Given the description of an element on the screen output the (x, y) to click on. 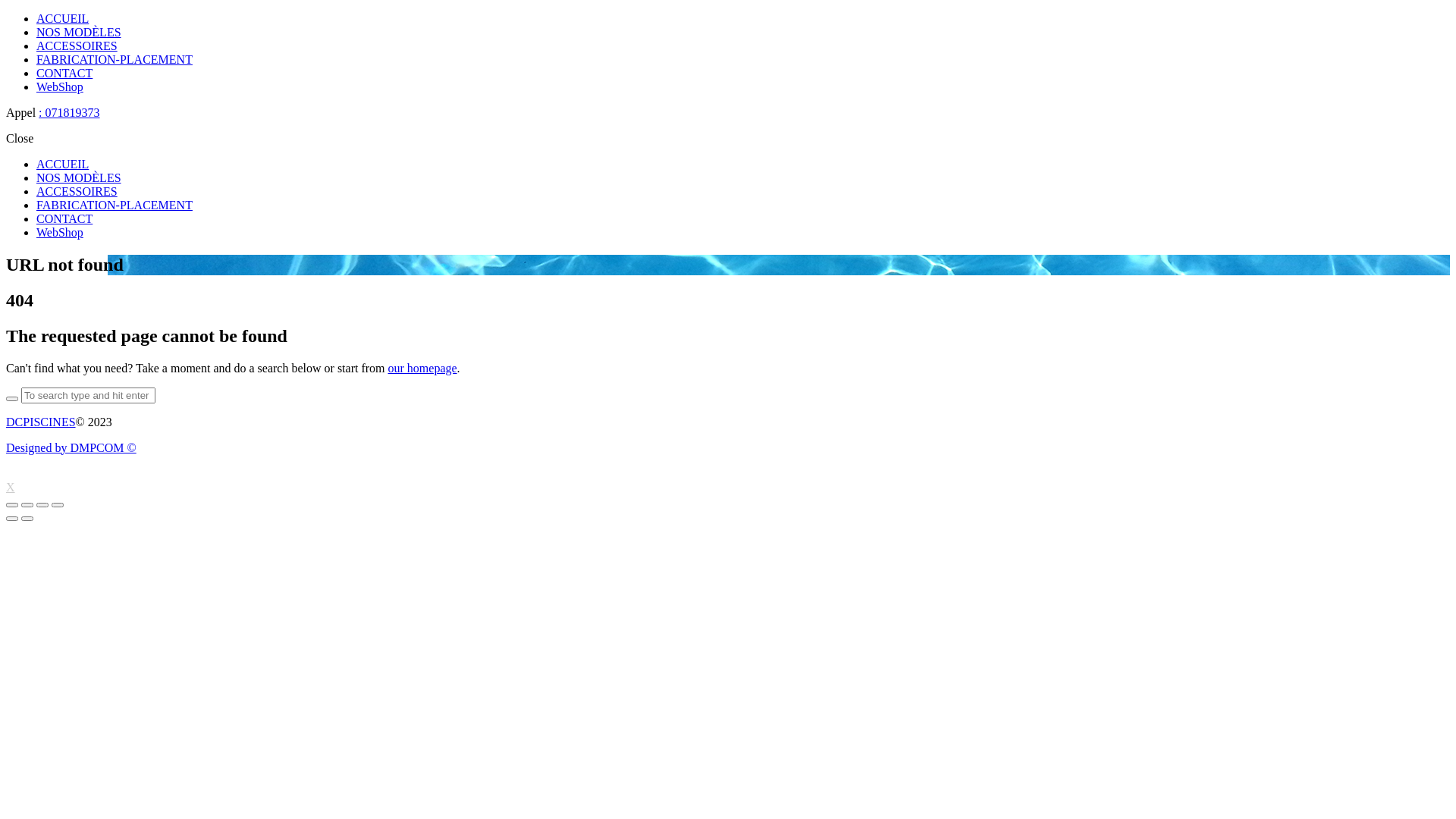
FABRICATION-PLACEMENT Element type: text (114, 204)
X Element type: text (10, 486)
ACCESSOIRES Element type: text (76, 45)
FABRICATION-PLACEMENT Element type: text (114, 59)
Start search Element type: hover (12, 398)
our homepage Element type: text (422, 367)
WebShop Element type: text (59, 86)
DCPISCINES Element type: text (40, 421)
ACCUEIL Element type: text (62, 163)
ACCESSOIRES Element type: text (76, 191)
CONTACT Element type: text (64, 218)
CONTACT Element type: text (64, 72)
ACCUEIL Element type: text (62, 18)
WebShop Element type: text (59, 231)
: 071819373 Element type: text (68, 112)
